Given the description of an element on the screen output the (x, y) to click on. 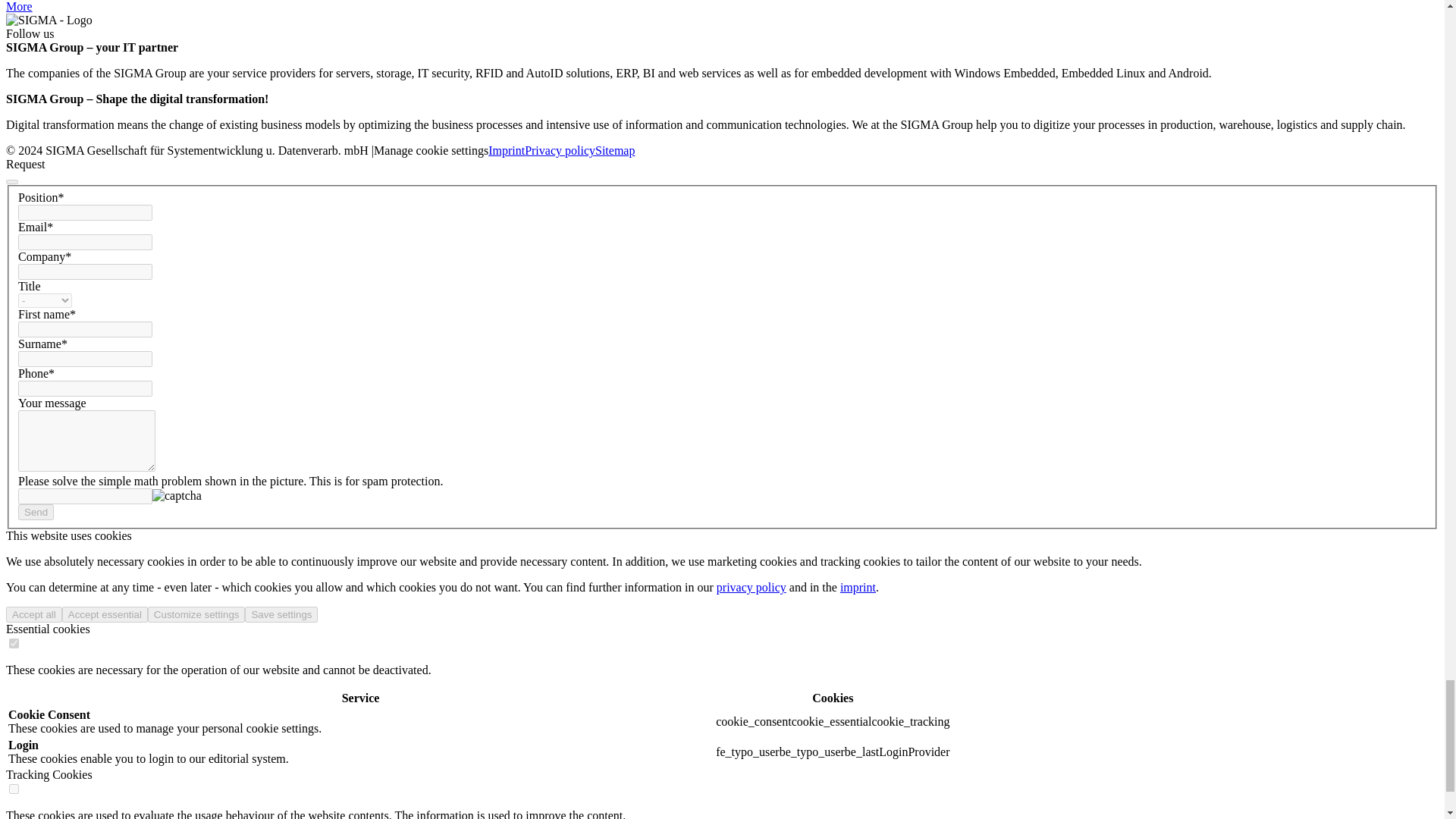
1 (13, 643)
1 (13, 788)
Send (35, 512)
